Given the description of an element on the screen output the (x, y) to click on. 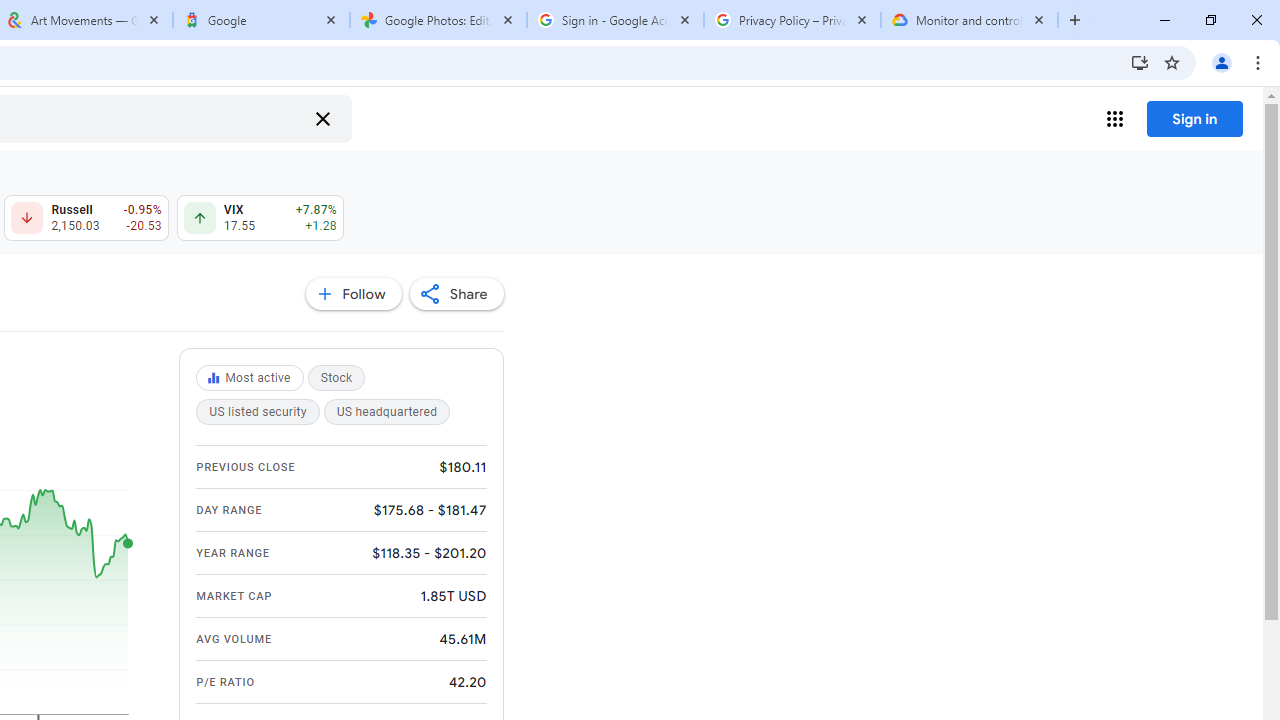
Sign in - Google Accounts (615, 20)
Install Google Finance (1139, 62)
